Given the description of an element on the screen output the (x, y) to click on. 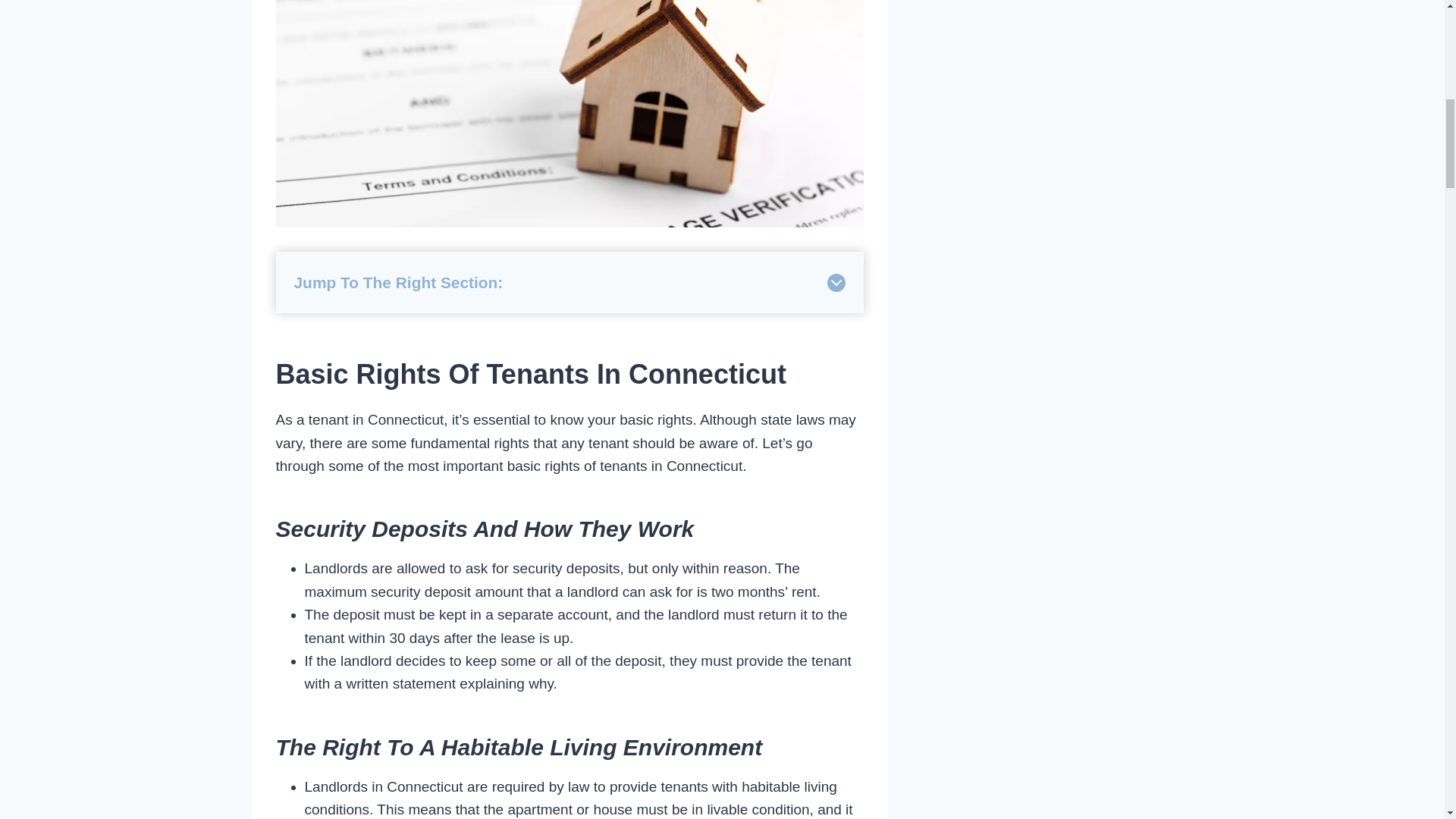
What are My Rights As a Tenant in Connecticut? (570, 113)
Jump To The Right Section: (569, 282)
